Given the description of an element on the screen output the (x, y) to click on. 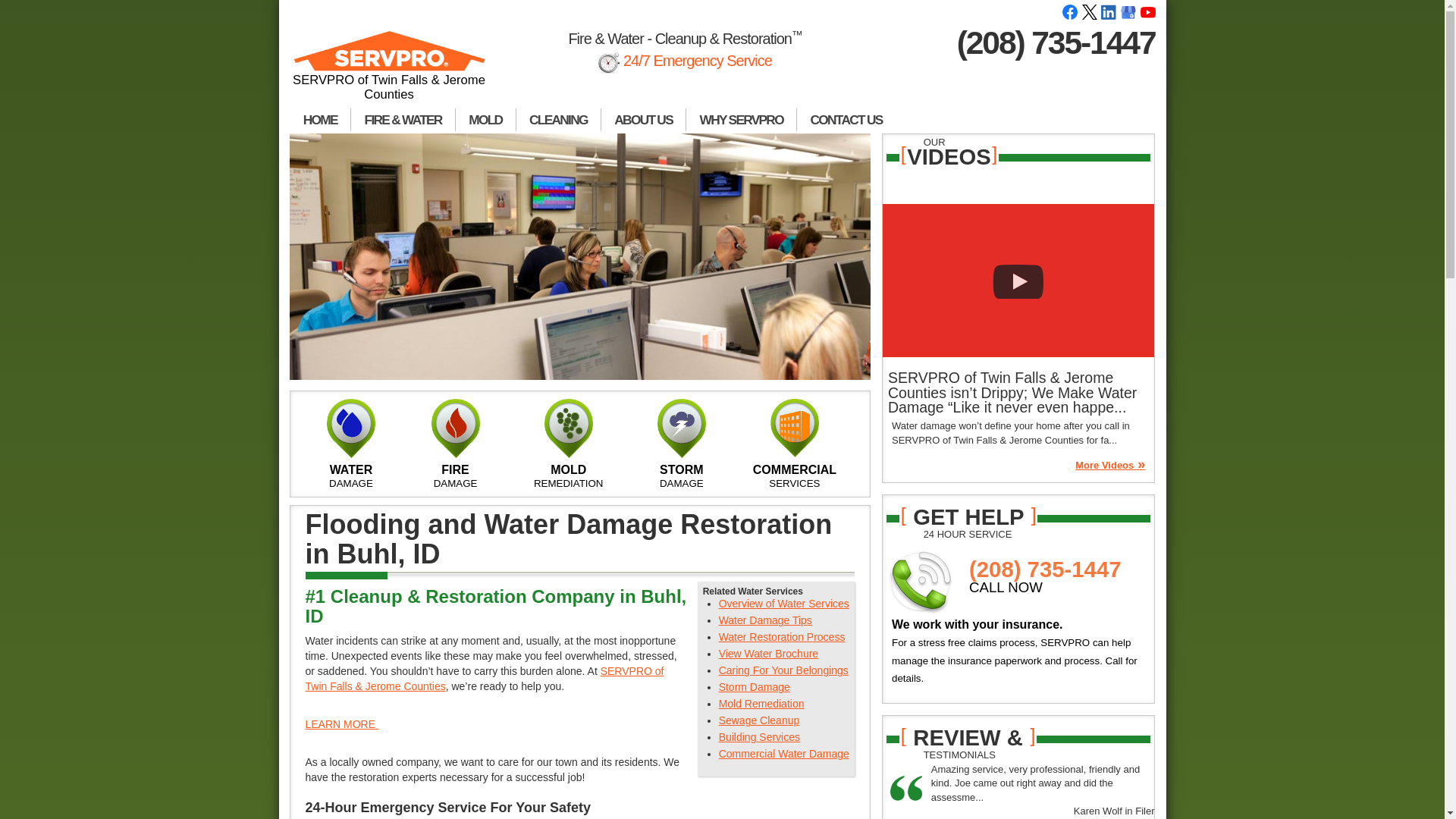
ABOUT US (643, 120)
CLEANING (558, 120)
MOLD (485, 120)
HOME (319, 120)
